Given the description of an element on the screen output the (x, y) to click on. 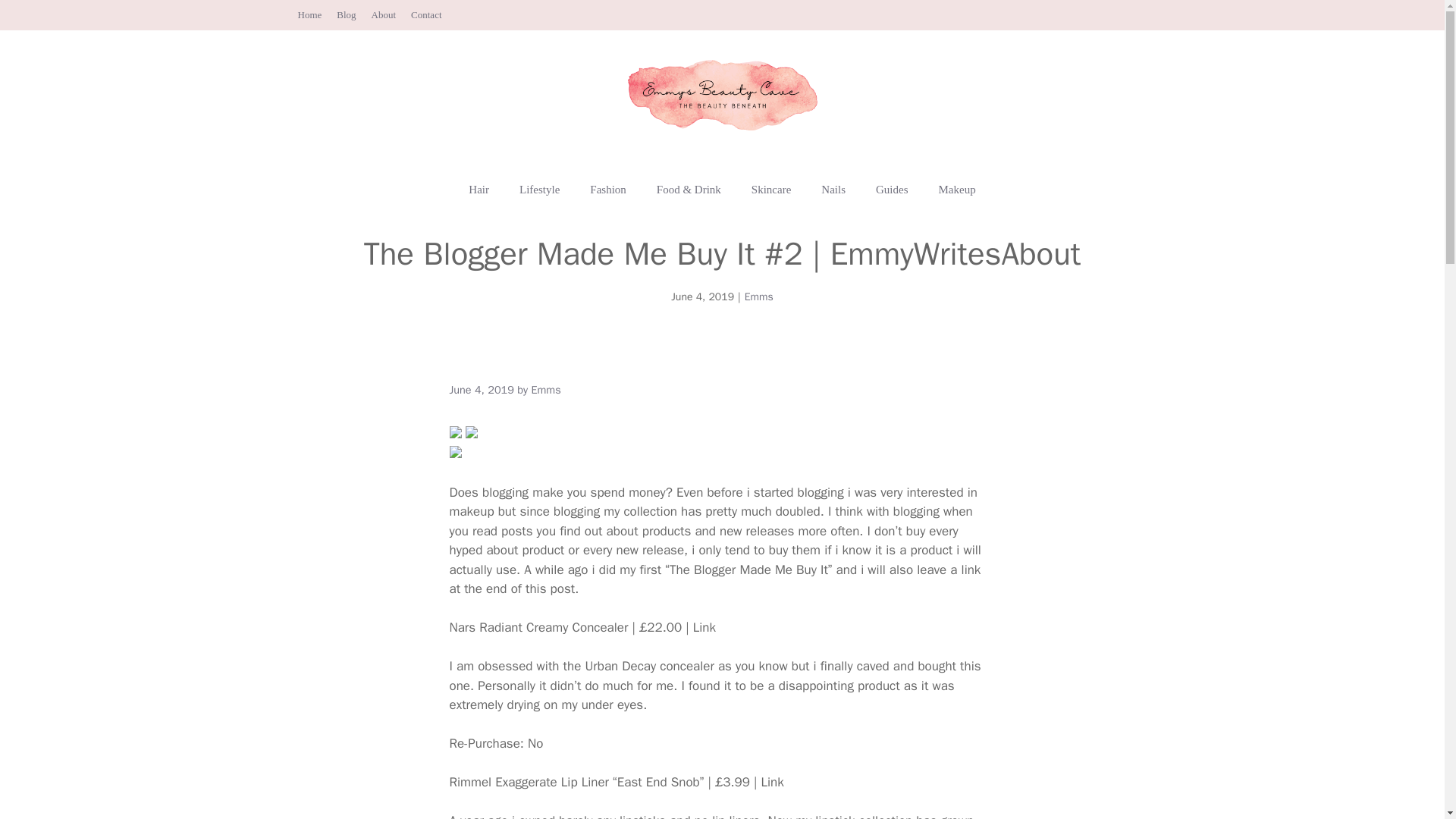
View all posts by Emms (545, 389)
Contact (425, 14)
Emms (758, 296)
Guides (891, 189)
Skincare (771, 189)
About (383, 14)
Hair (477, 189)
Lifestyle (539, 189)
Makeup (957, 189)
Emms (545, 389)
Home (309, 14)
Fashion (608, 189)
Blog (345, 14)
Nails (833, 189)
